Given the description of an element on the screen output the (x, y) to click on. 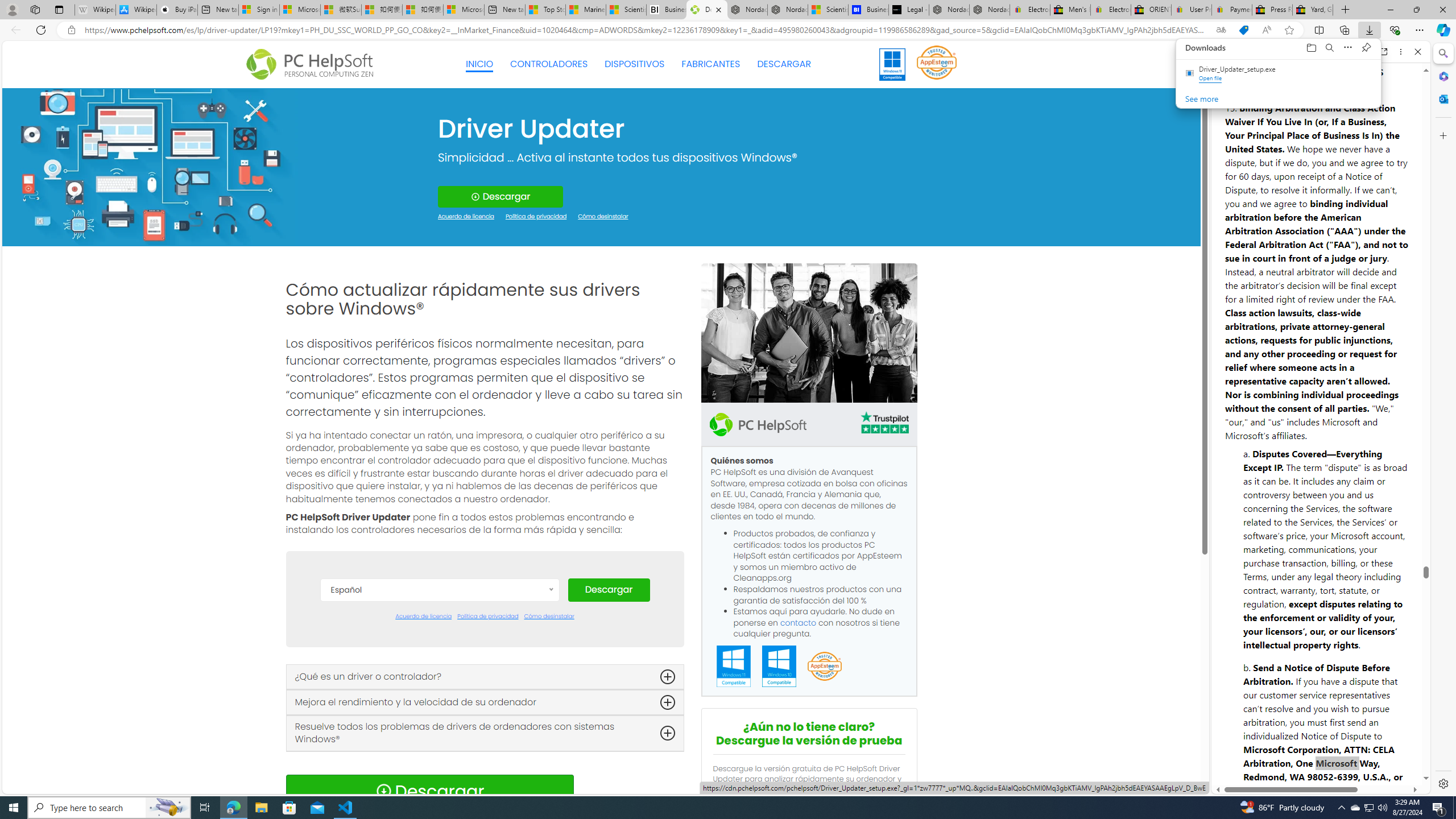
User Privacy Notice | eBay (1191, 9)
FABRICANTES (711, 64)
Microsoft account | Account Checkup (463, 9)
FABRICANTES (711, 64)
